Given the description of an element on the screen output the (x, y) to click on. 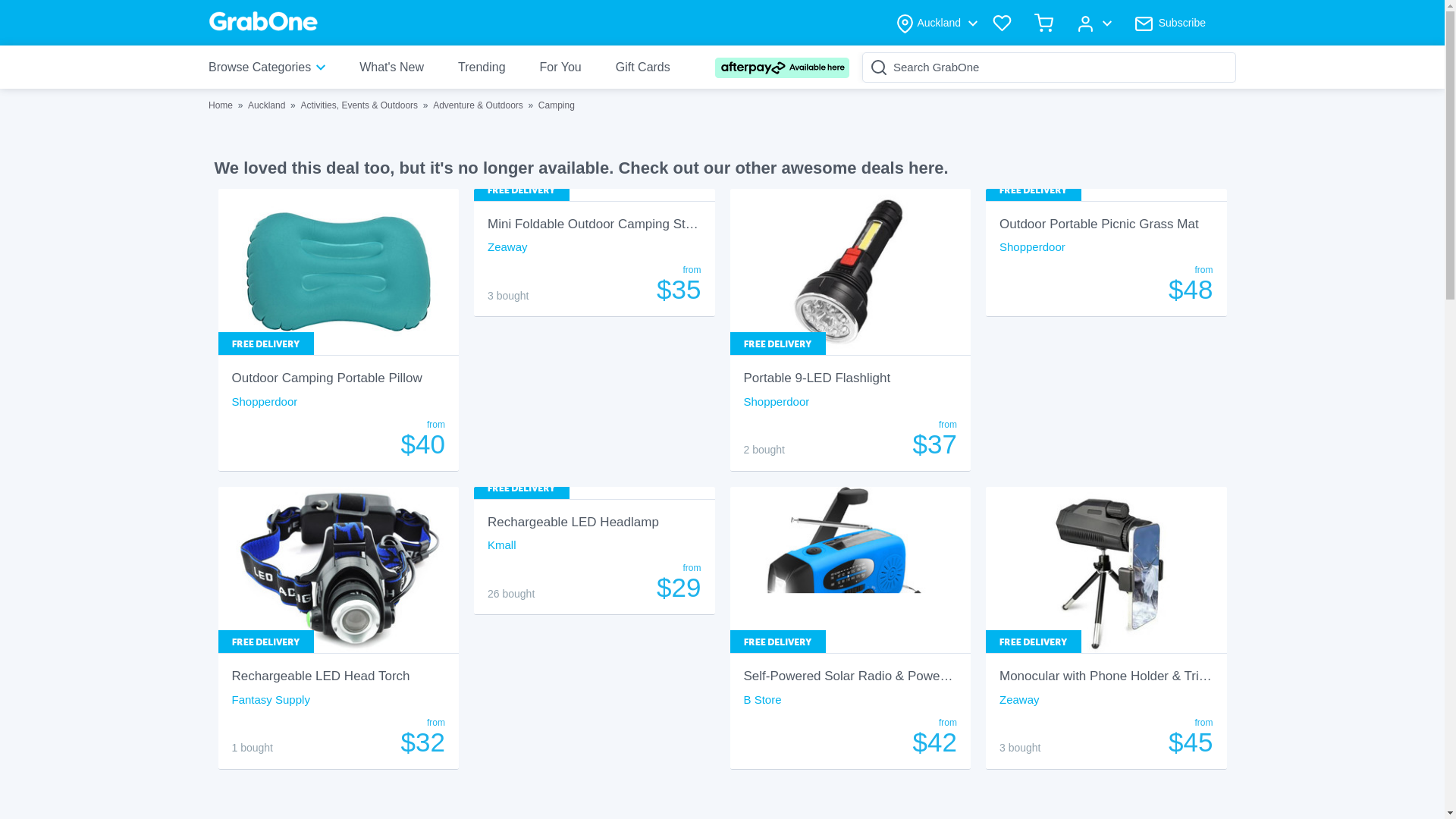
Auckland (936, 22)
Subscribe (1169, 22)
Gift Cards (642, 66)
For You (560, 66)
Auckland (266, 104)
What's New (391, 66)
Trending (481, 66)
Browse Categories (272, 66)
Home (220, 104)
